Given the description of an element on the screen output the (x, y) to click on. 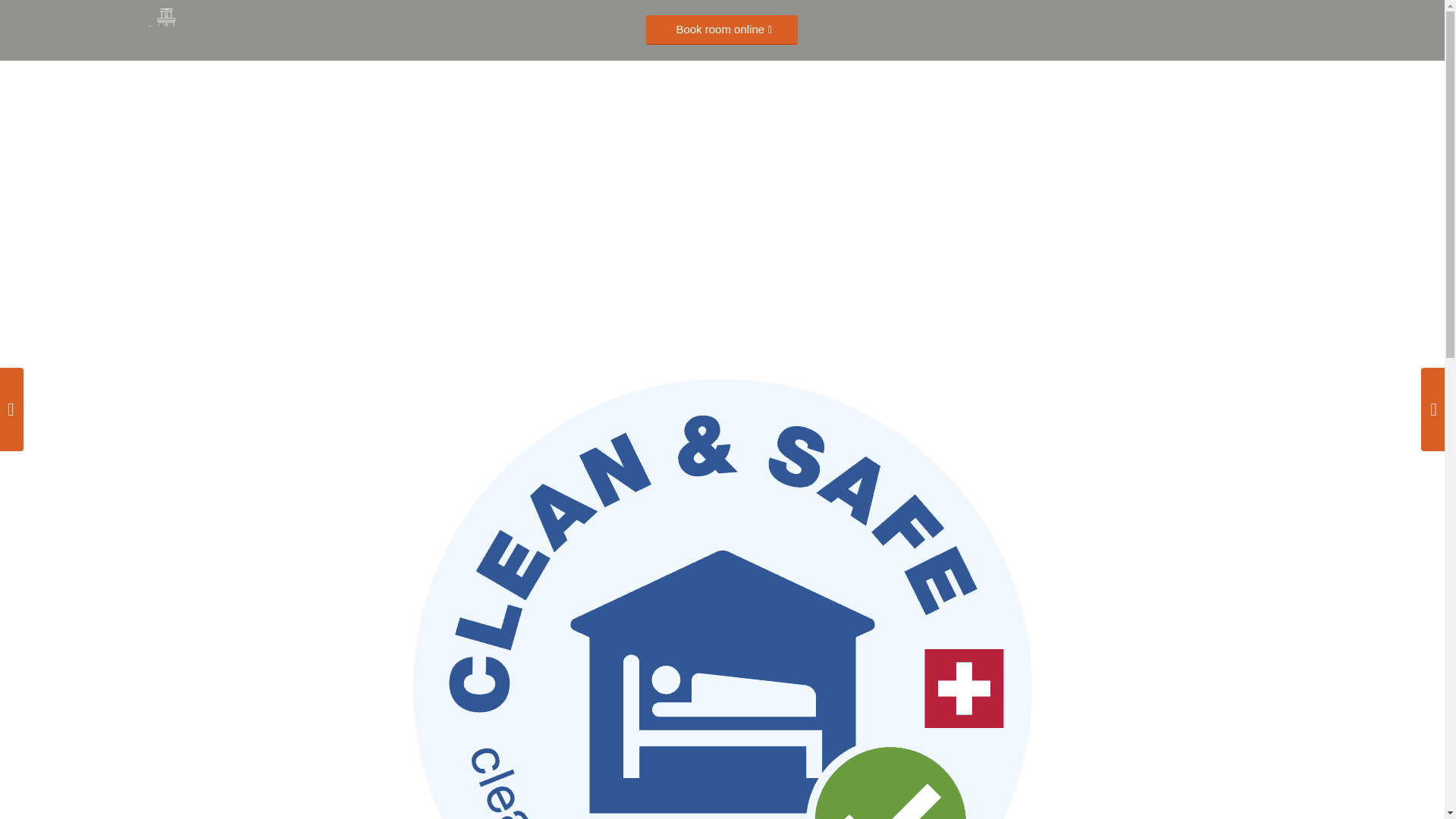
Romantik Hotel Castello Seeschloss (165, 28)
Book room online (721, 30)
